Given the description of an element on the screen output the (x, y) to click on. 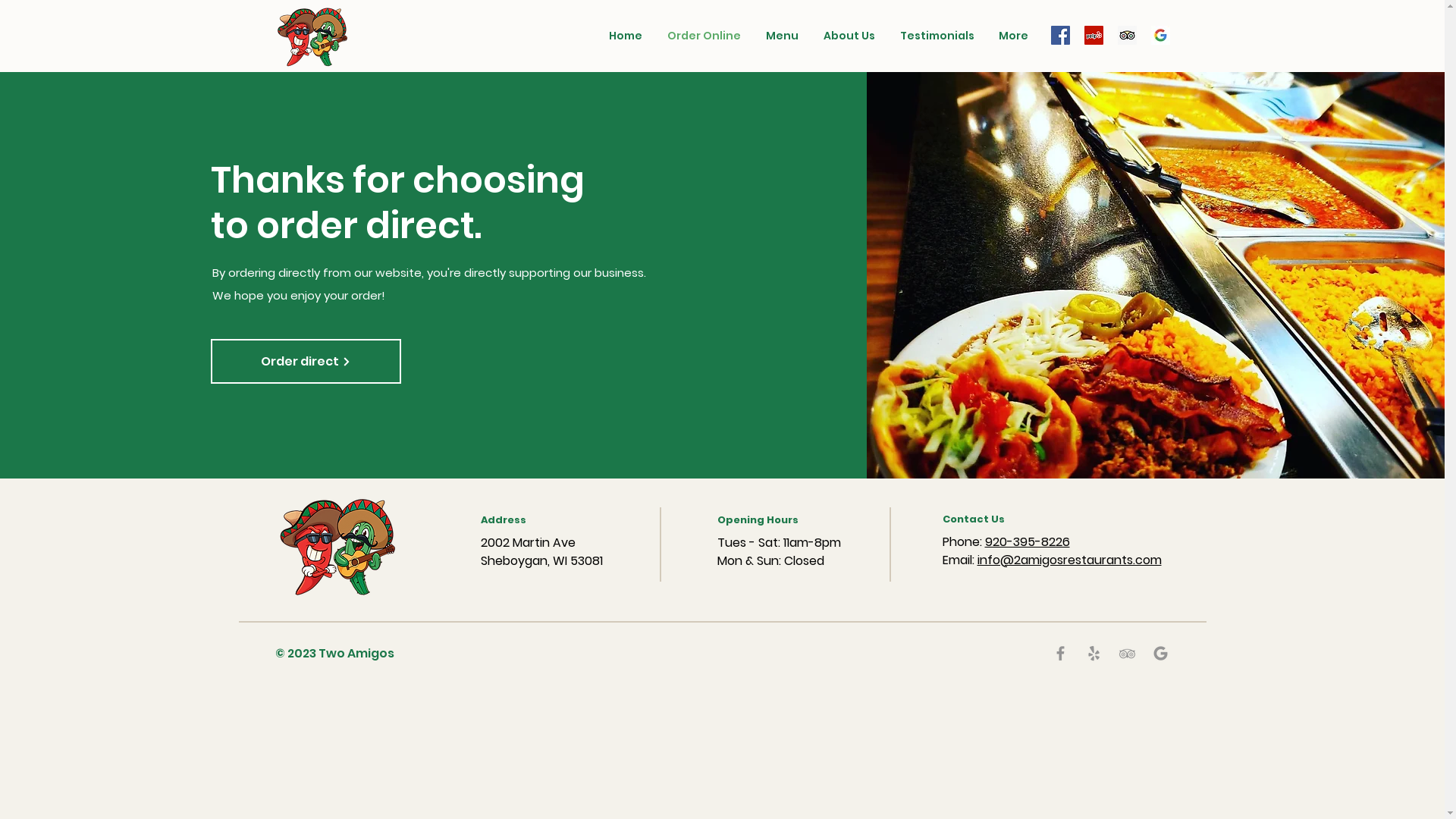
920-395-8226 Element type: text (1026, 541)
Order Online Element type: text (704, 35)
info@2amigosrestaurants.com Element type: text (1068, 559)
Testimonials Element type: text (936, 35)
About Us Element type: text (849, 35)
Menu Element type: text (782, 35)
Home Element type: text (625, 35)
Order direct Element type: text (305, 360)
